Given the description of an element on the screen output the (x, y) to click on. 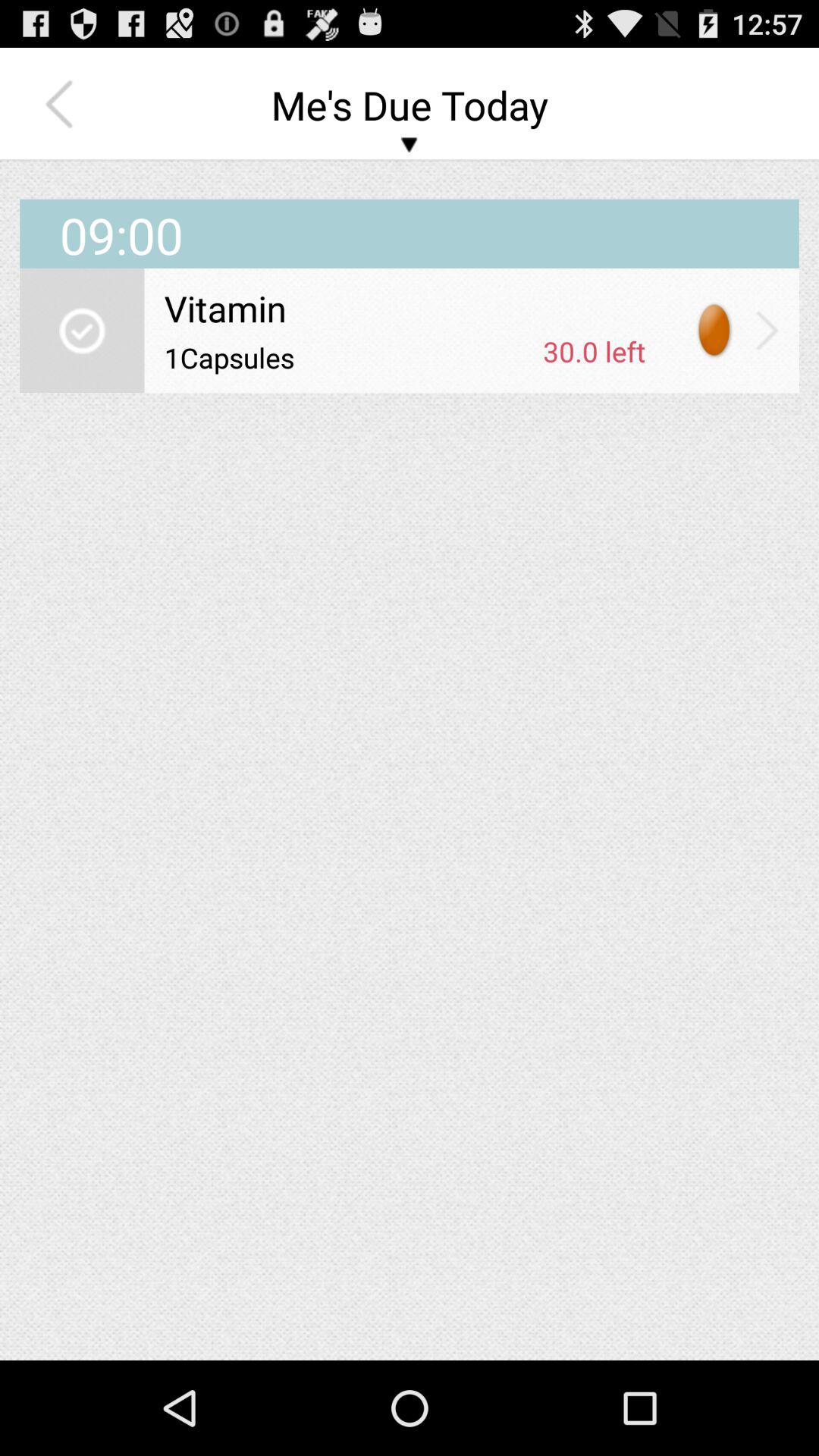
click 09:00 item (409, 215)
